Given the description of an element on the screen output the (x, y) to click on. 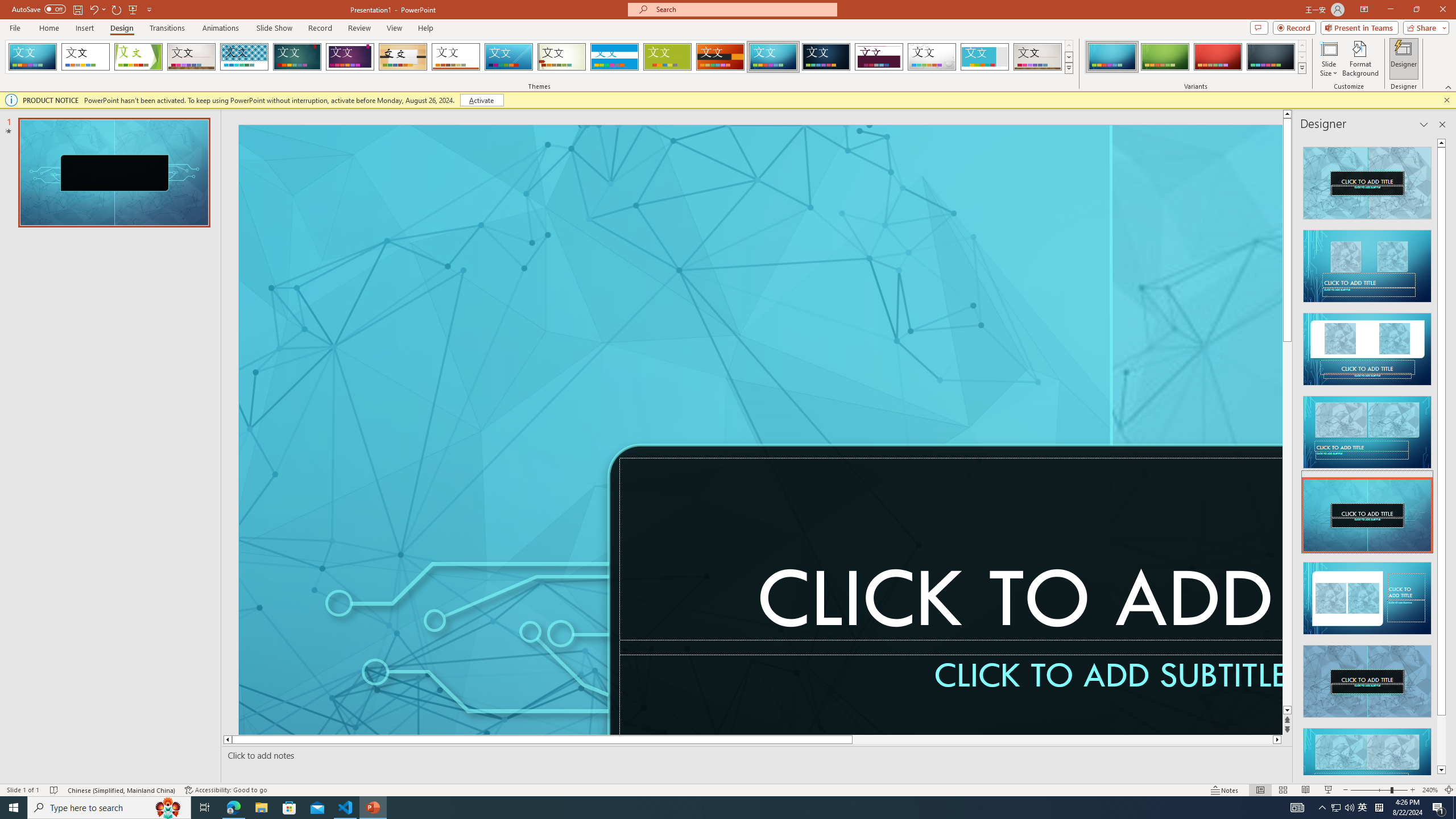
Facet (138, 56)
Integral (244, 56)
Circuit Variant 4 (1270, 56)
Dividend (879, 56)
Circuit Variant 3 (1217, 56)
